Given the description of an element on the screen output the (x, y) to click on. 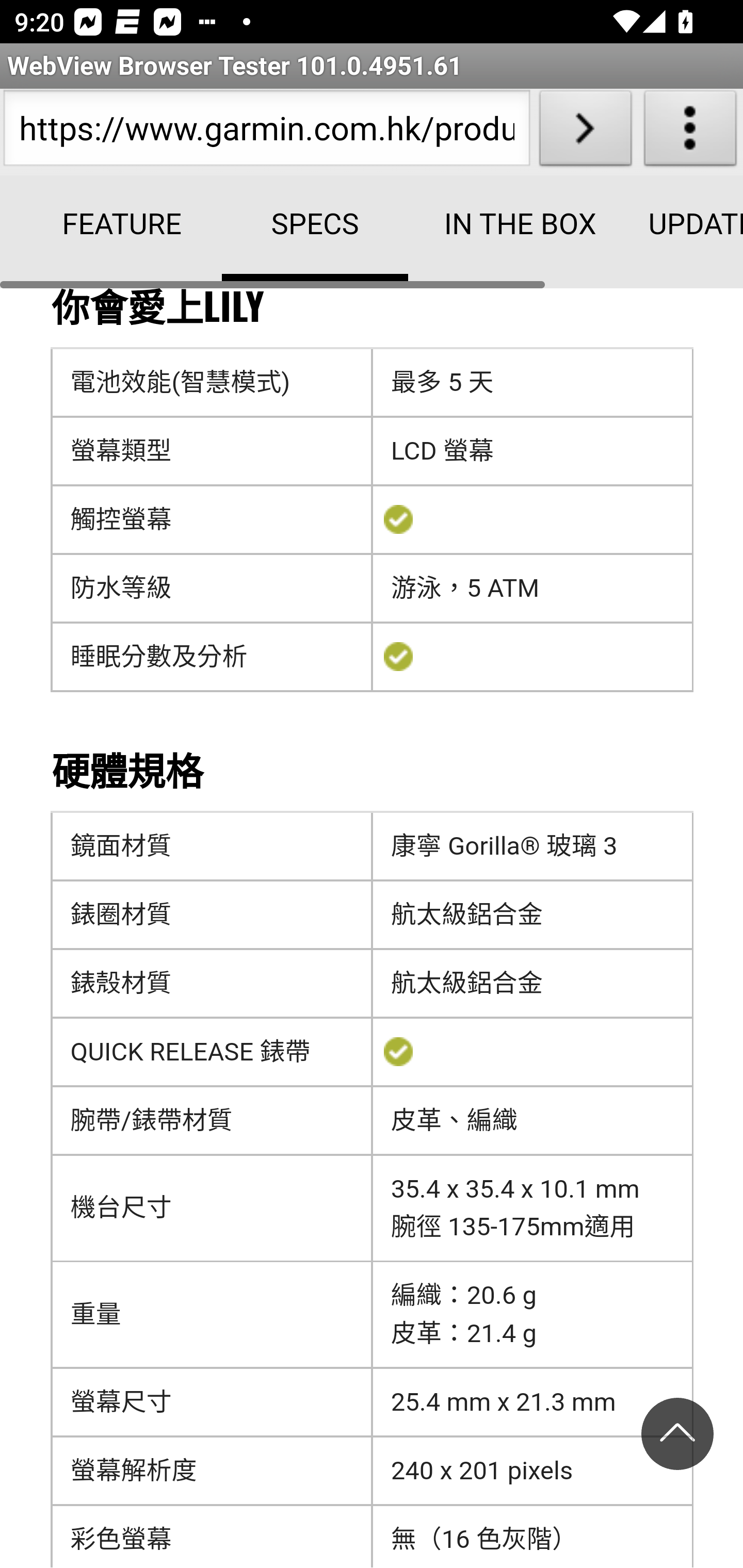
Load URL (585, 132)
About WebView (690, 132)
FEATURE (122, 224)
SPECS (314, 228)
IN THE BOX (508, 224)
UPDATE (675, 224)
Scroll Back to Top Back to Top (676, 1439)
